Given the description of an element on the screen output the (x, y) to click on. 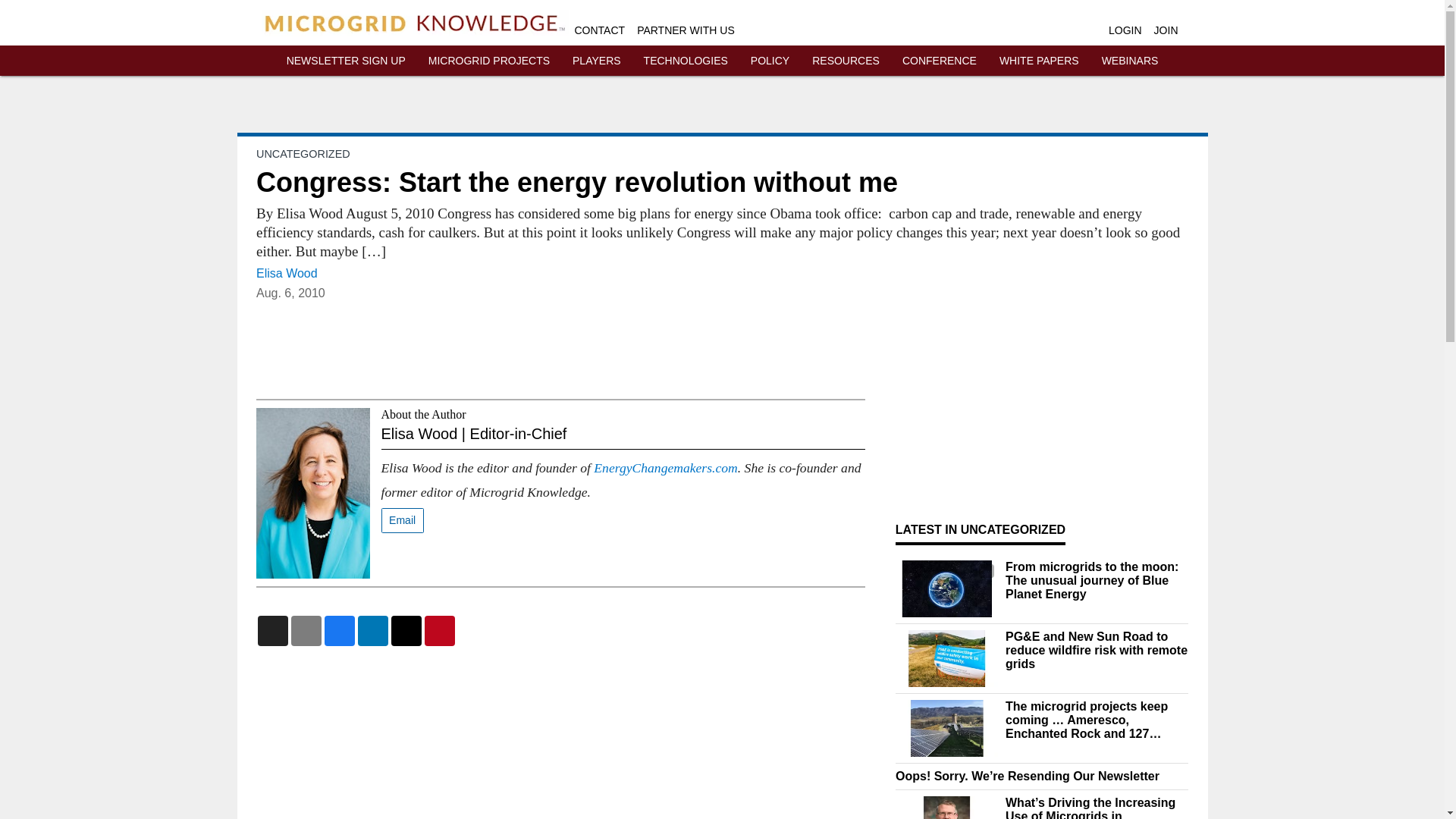
PARTNER WITH US (686, 30)
MICROGRID PROJECTS (489, 60)
RESOURCES (845, 60)
POLICY (770, 60)
NEWSLETTER SIGN UP (346, 60)
Castello di Amorosa winery. Photo courtesy of 127 Energy (946, 728)
JOIN (1165, 30)
CONFERENCE (939, 60)
LOGIN (1124, 30)
CONTACT (600, 30)
WEBINARS (1130, 60)
Planet,Earth,-,Elements,Of,This,Image,Furnished,By,Nasa (946, 588)
Tor Anderson, Power Engineers (946, 807)
WHITE PAPERS (1038, 60)
PLAYERS (596, 60)
